Given the description of an element on the screen output the (x, y) to click on. 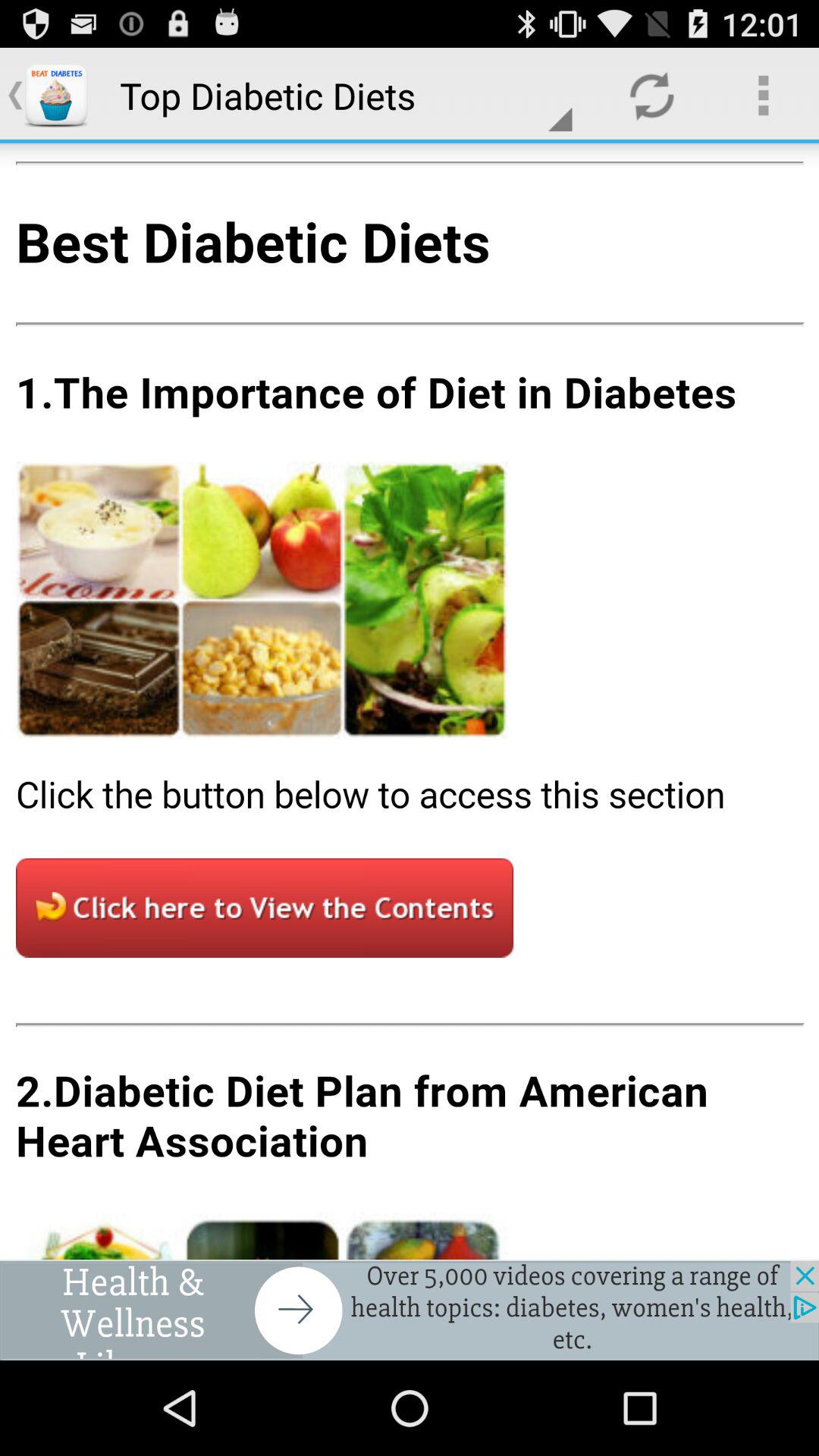
go to advertisement (409, 1310)
